Given the description of an element on the screen output the (x, y) to click on. 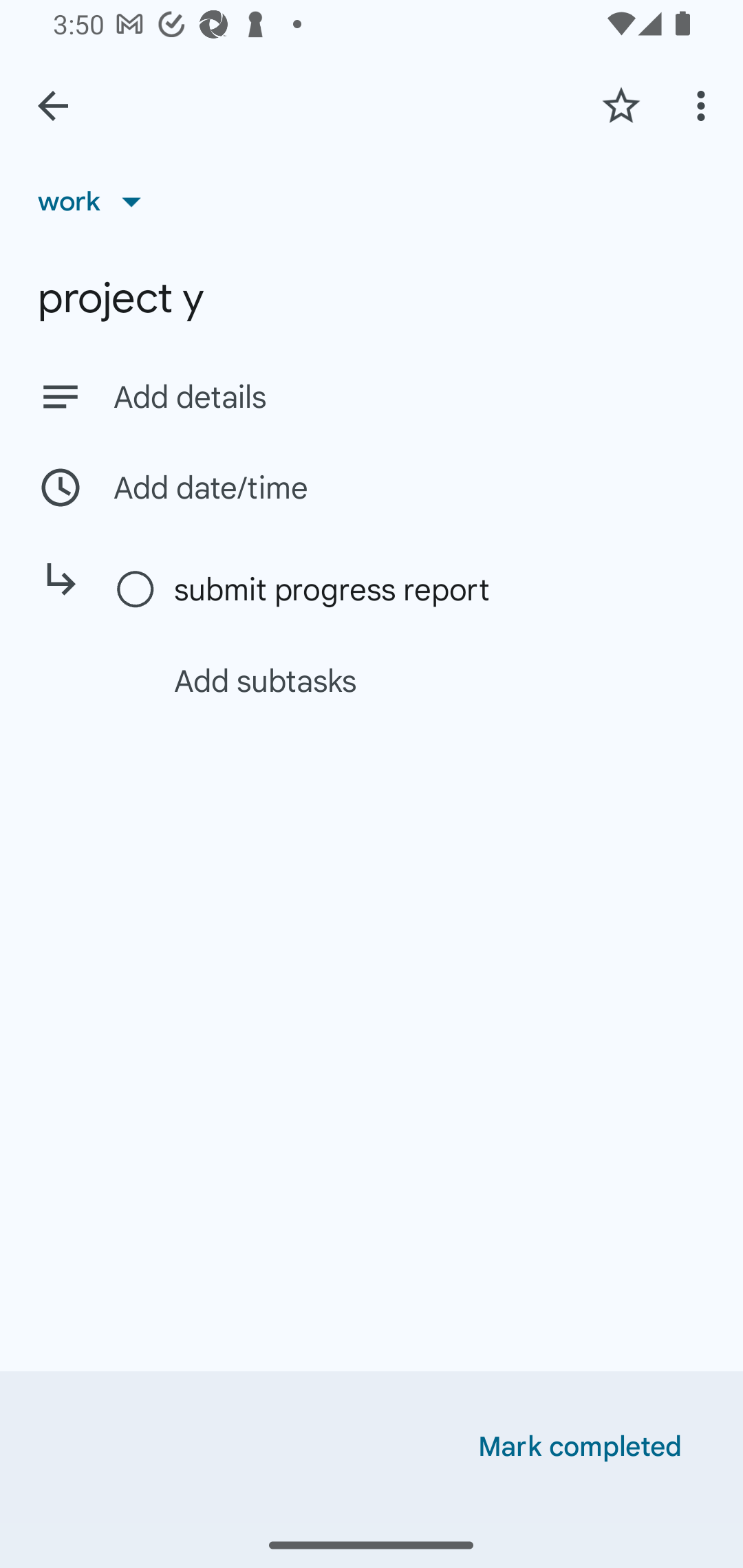
Back (53, 105)
Add star (620, 105)
More options (704, 105)
work List, work selected, 1 of 19 (95, 201)
project y (371, 298)
Add details (371, 396)
Add details (409, 397)
Add date/time (371, 487)
submit progress report (401, 589)
Mark as complete (136, 590)
Add subtasks (394, 680)
Mark completed (580, 1446)
